Given the description of an element on the screen output the (x, y) to click on. 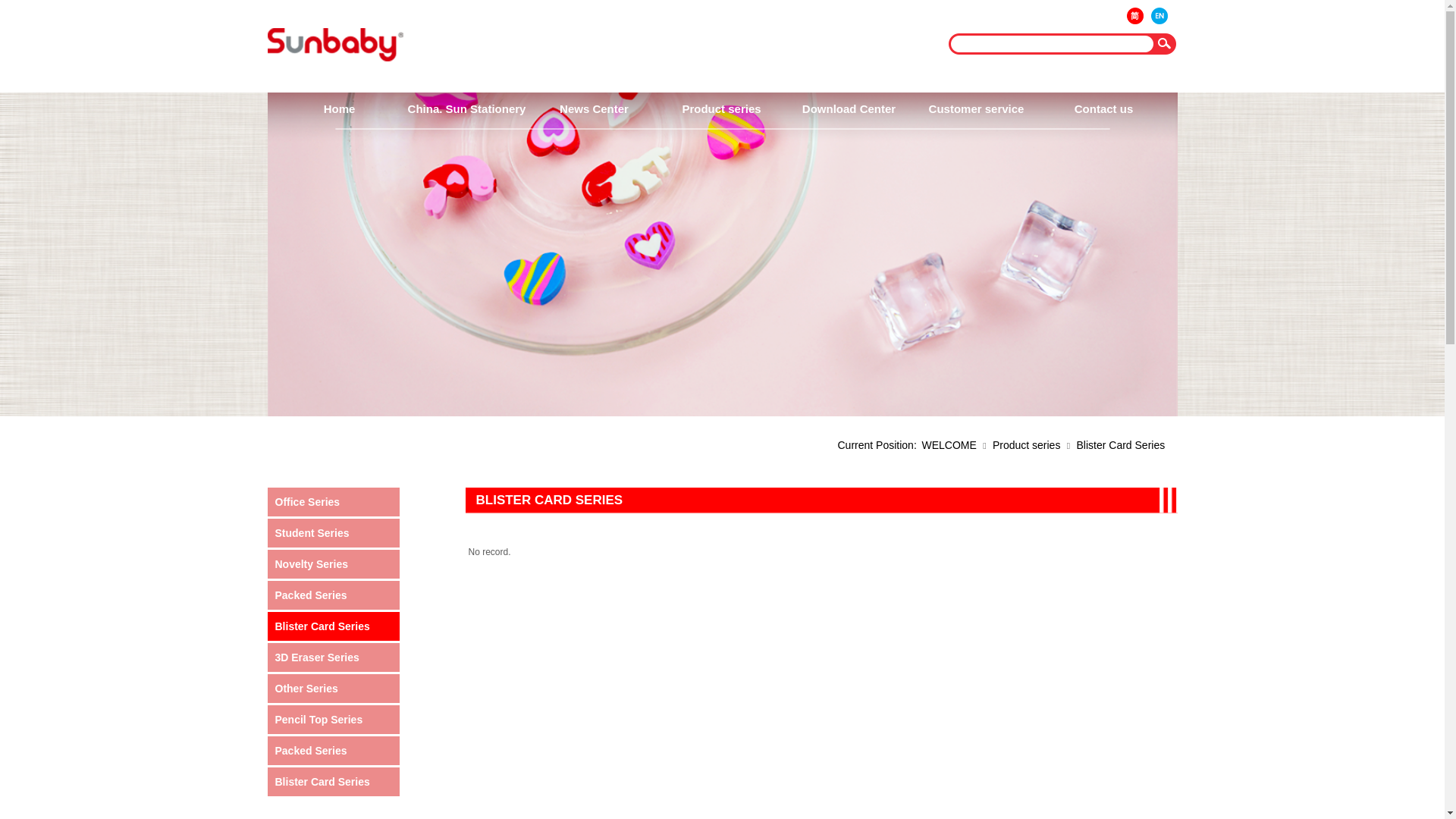
Office Series Element type: text (334, 501)
3D Eraser Series Element type: text (334, 657)
Blister Card Series Element type: text (334, 781)
Packed Series Element type: text (334, 594)
Download Center Element type: text (848, 108)
Product series Element type: text (721, 108)
Other Series Element type: text (334, 688)
WELCOME Element type: text (949, 445)
News Center Element type: text (593, 108)
Pencil Top Series Element type: text (334, 719)
Home Element type: text (338, 108)
Blister Card Series Element type: text (334, 625)
China. Sun Stationery Element type: text (466, 108)
Product series Element type: text (1026, 445)
Contact us Element type: text (1103, 108)
Blister Card Series Element type: text (1120, 445)
Packed Series Element type: text (334, 750)
Novelty Series Element type: text (334, 563)
Customer service Element type: text (975, 108)
Student Series Element type: text (334, 532)
